Given the description of an element on the screen output the (x, y) to click on. 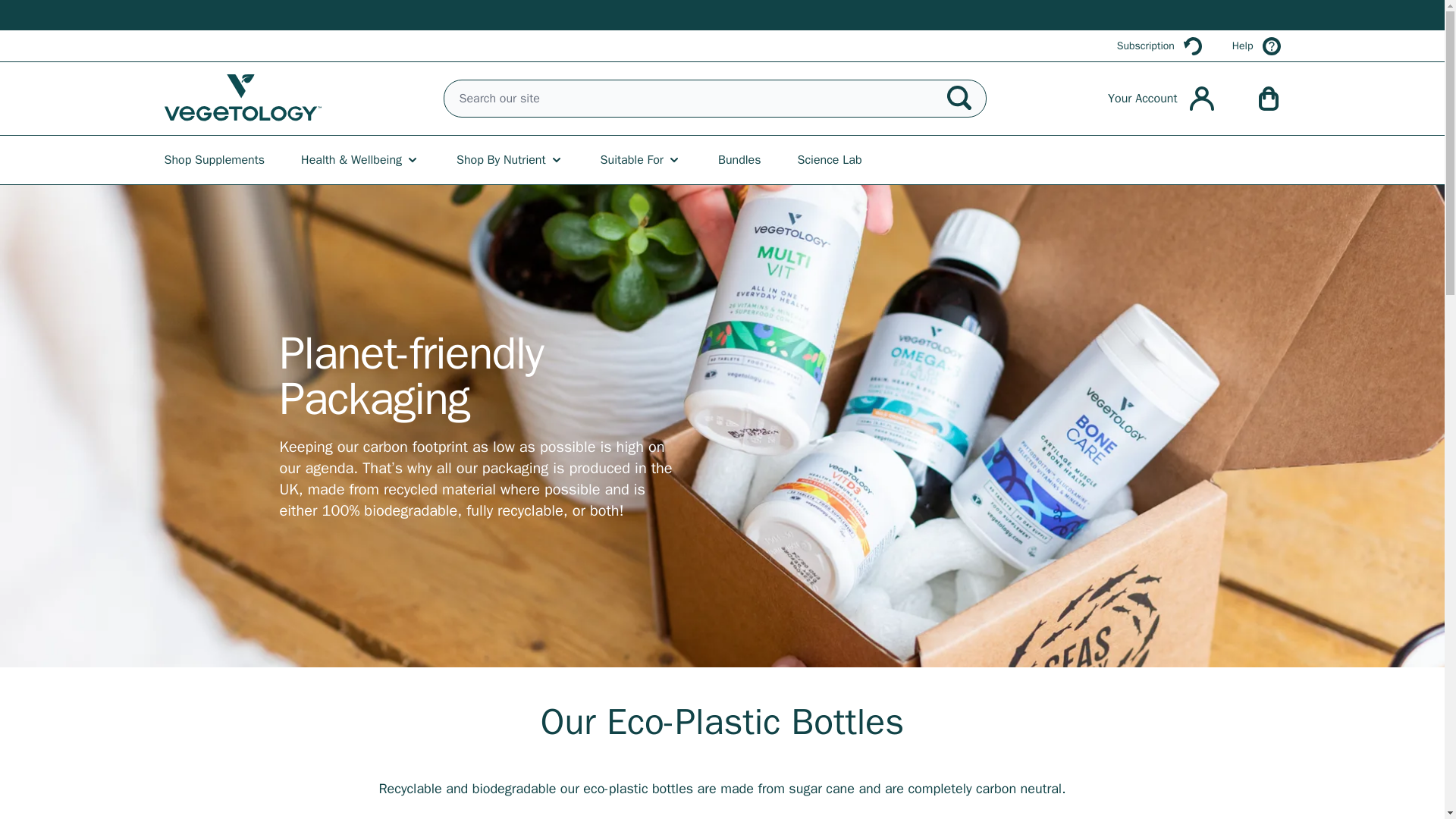
Vegetology Homepage (242, 98)
Your Account (1160, 98)
Subscription (1159, 45)
Help (1256, 45)
